Given the description of an element on the screen output the (x, y) to click on. 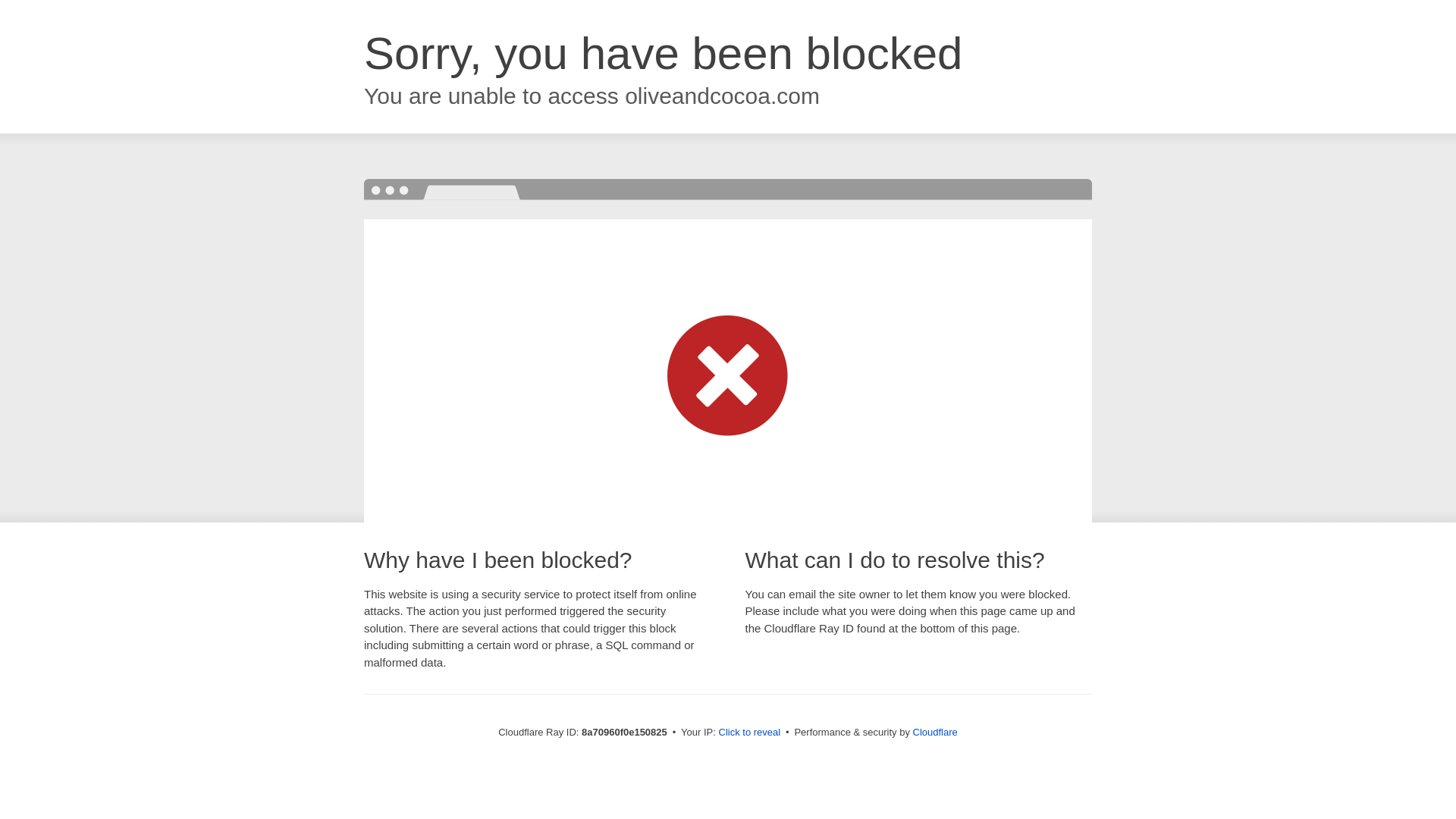
Cloudflare (935, 731)
Click to reveal (749, 732)
